Given the description of an element on the screen output the (x, y) to click on. 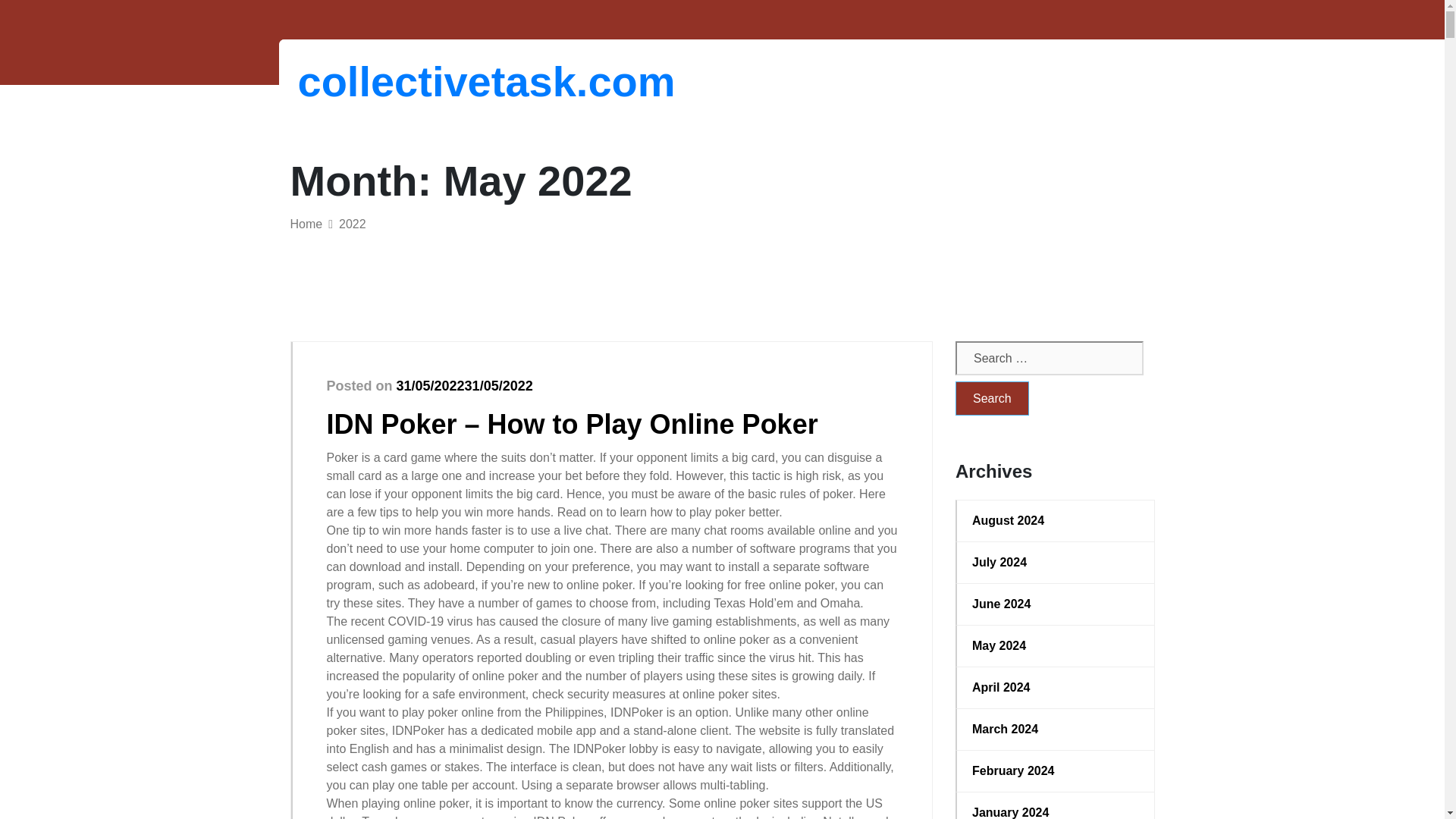
Search (992, 398)
collectivetask.com (376, 81)
Home (305, 223)
Search (992, 398)
2022 (352, 223)
